Given the description of an element on the screen output the (x, y) to click on. 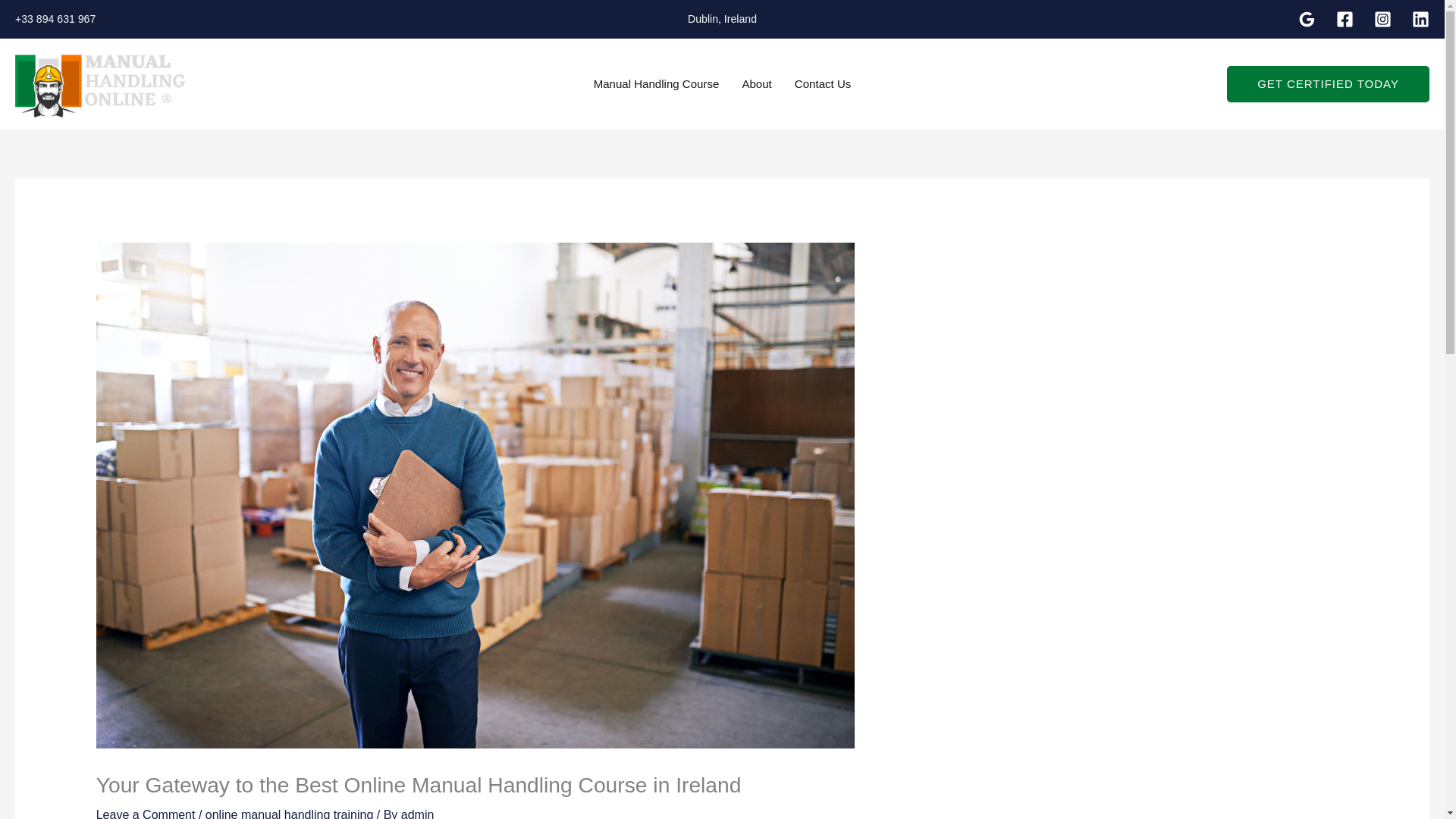
Manual Handling Course (656, 83)
Leave a Comment (145, 813)
Contact Us (823, 83)
admin (417, 813)
GET CERTIFIED TODAY (1328, 84)
View all posts by admin (417, 813)
online manual handling training (289, 813)
About (756, 83)
